Given the description of an element on the screen output the (x, y) to click on. 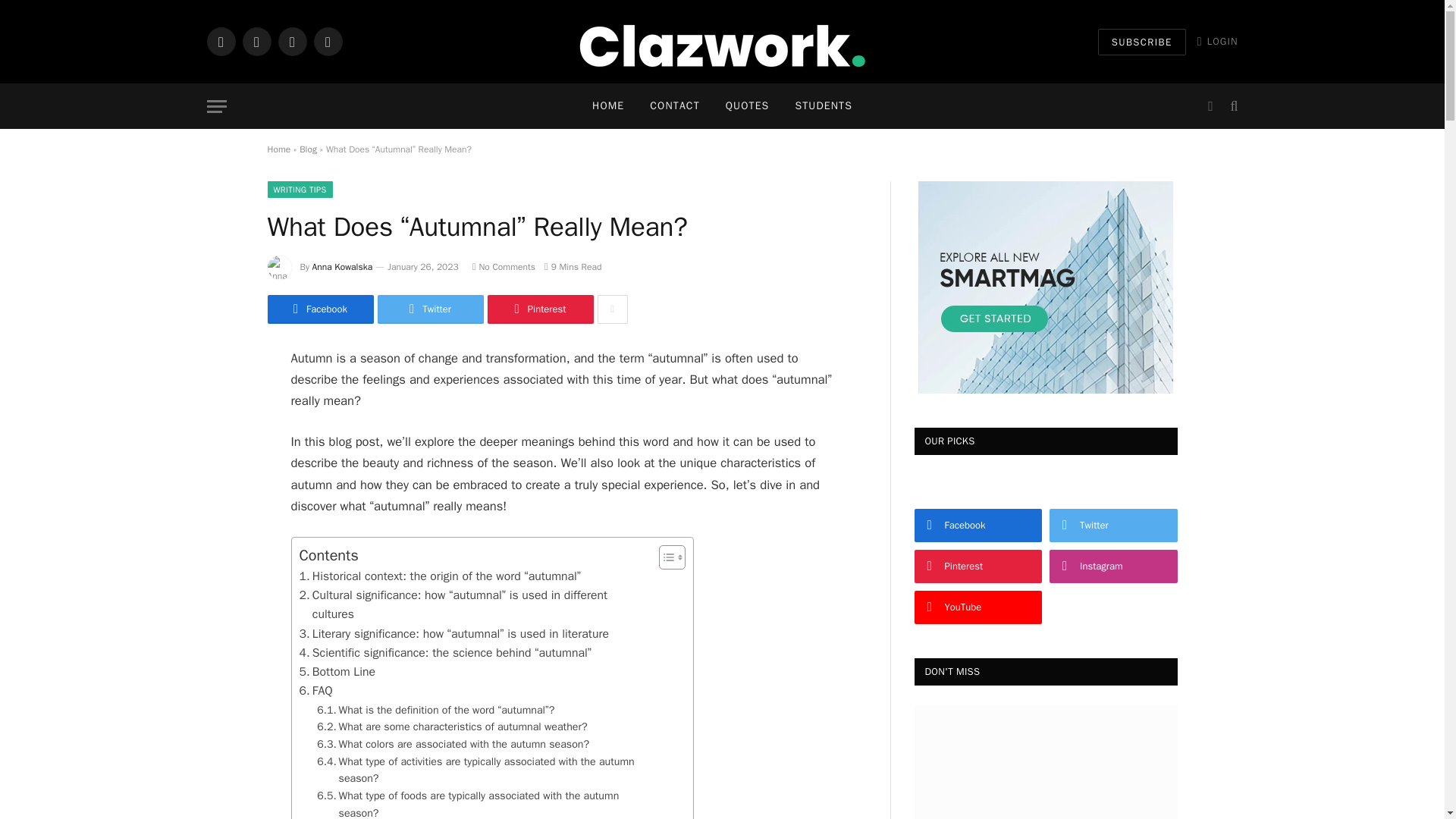
QUOTES (748, 105)
Vimeo (328, 41)
No Comments (503, 266)
SUBSCRIBE (1141, 41)
Facebook (319, 308)
STUDENTS (822, 105)
Twitter (430, 308)
Anna Kowalska (342, 266)
Posts by Anna Kowalska (342, 266)
LOGIN (1217, 41)
HOME (608, 105)
Clazwork.com (722, 41)
Blog (308, 149)
CONTACT (674, 105)
WRITING TIPS (298, 189)
